Given the description of an element on the screen output the (x, y) to click on. 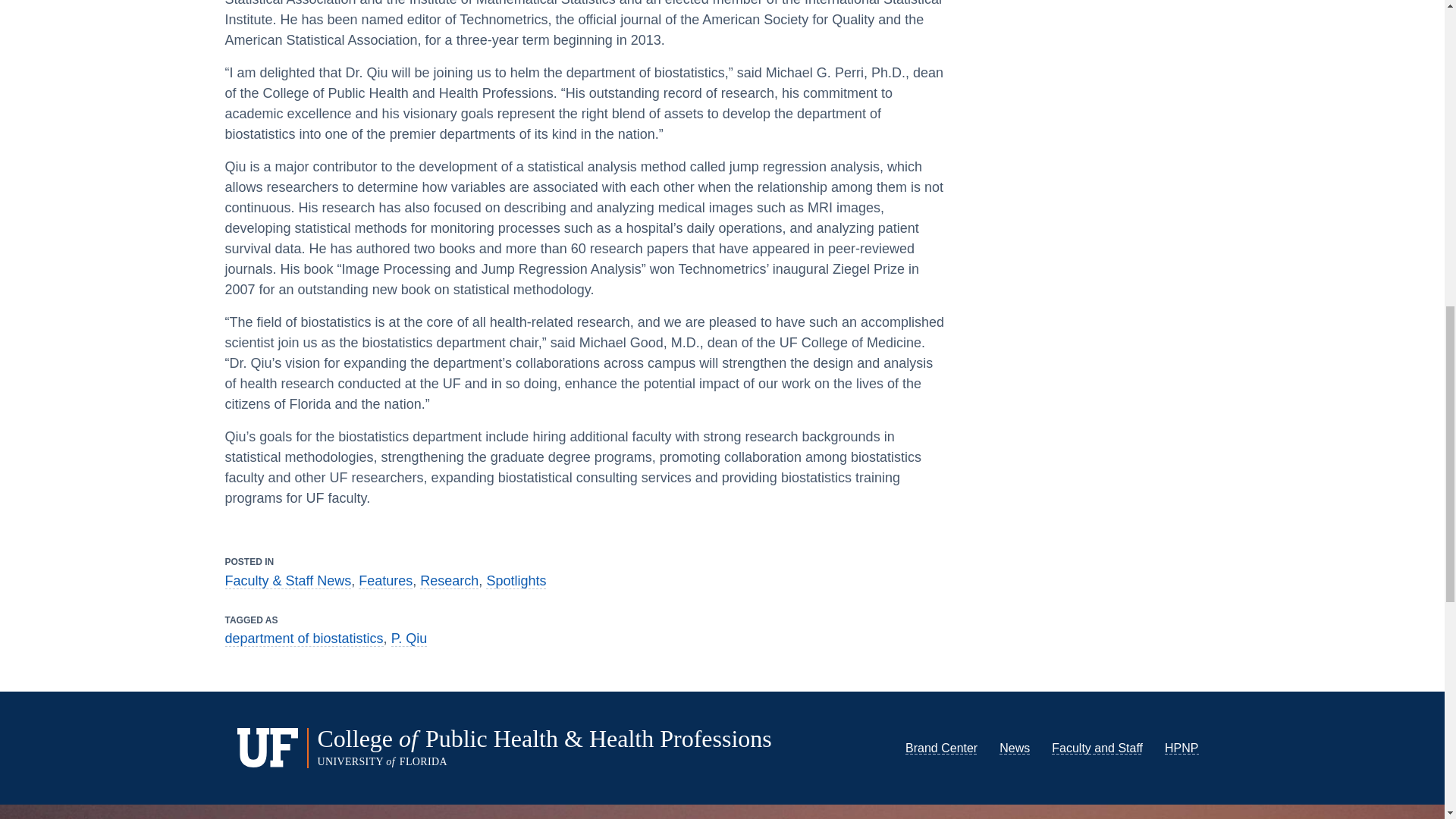
Brand Center (940, 748)
HPNP (1181, 748)
Faculty and Staff (1096, 748)
News (1013, 748)
